Given the description of an element on the screen output the (x, y) to click on. 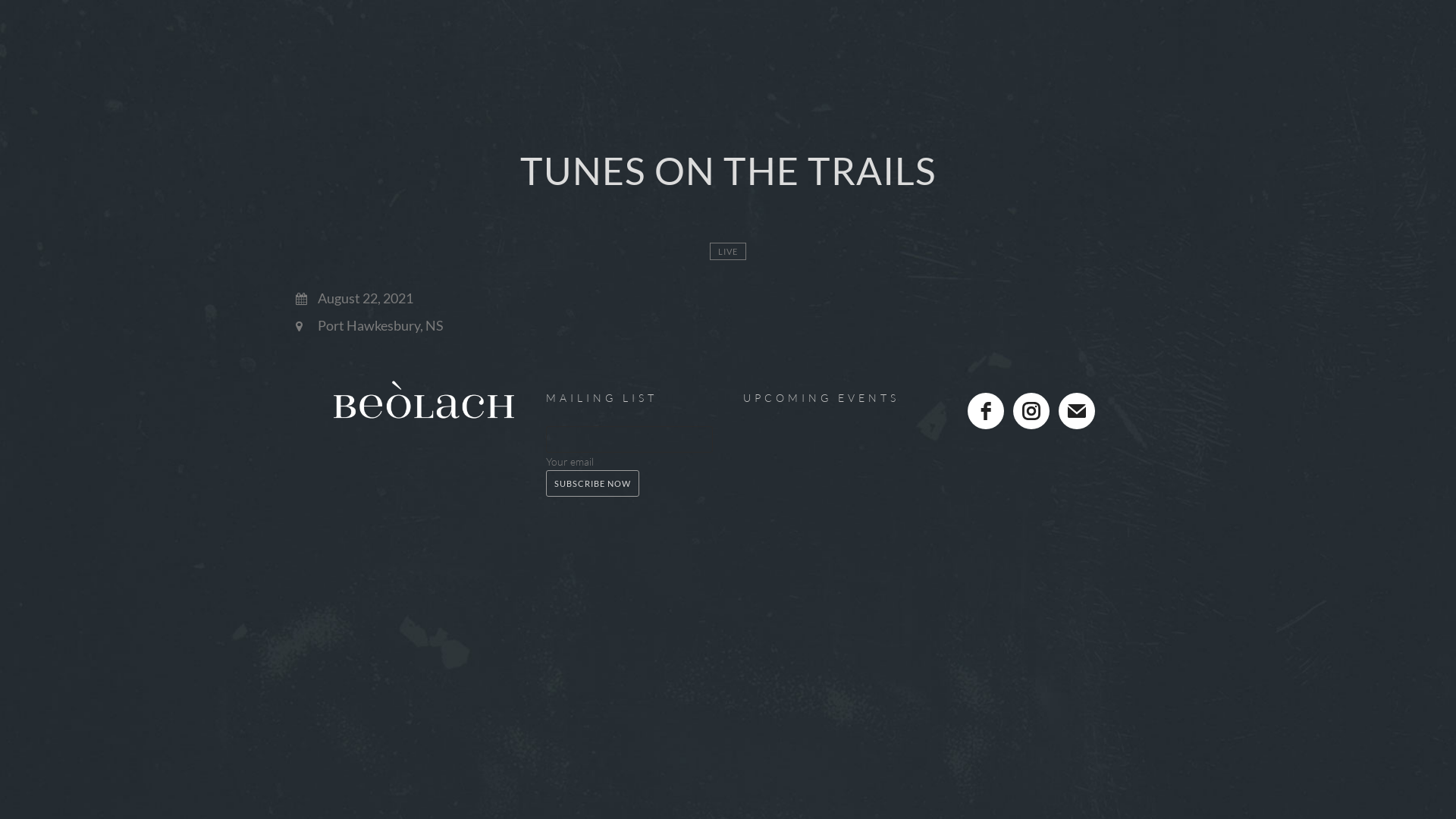
LIVE Element type: text (727, 251)
Subscribe now Element type: text (592, 483)
